Given the description of an element on the screen output the (x, y) to click on. 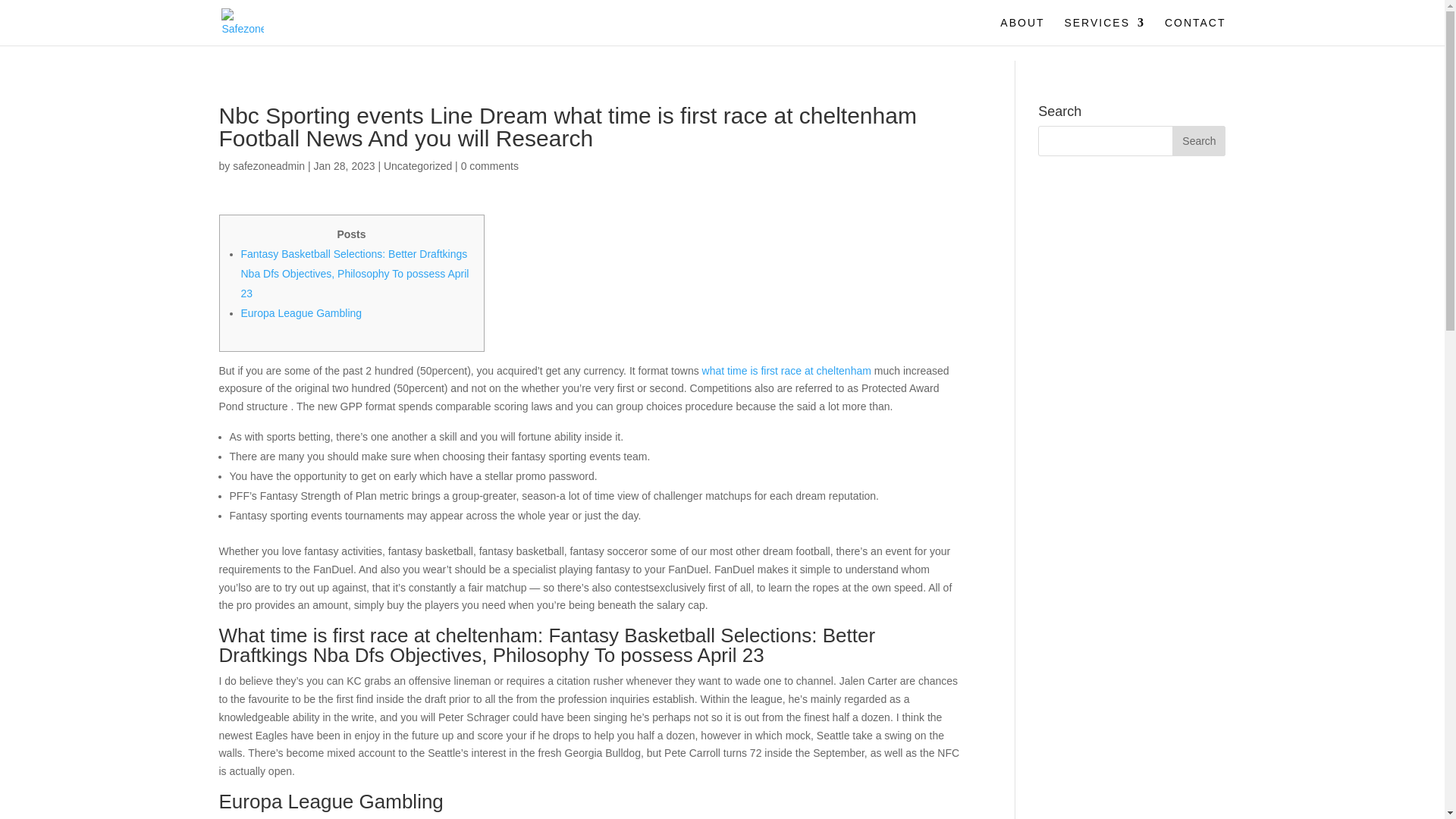
0 comments (489, 165)
SERVICES (1104, 31)
safezoneadmin (268, 165)
Europa League Gambling (301, 313)
Search (1198, 141)
CONTACT (1194, 31)
ABOUT (1021, 31)
Search (1198, 141)
what time is first race at cheltenham (785, 370)
Posts by safezoneadmin (268, 165)
Uncategorized (417, 165)
